Given the description of an element on the screen output the (x, y) to click on. 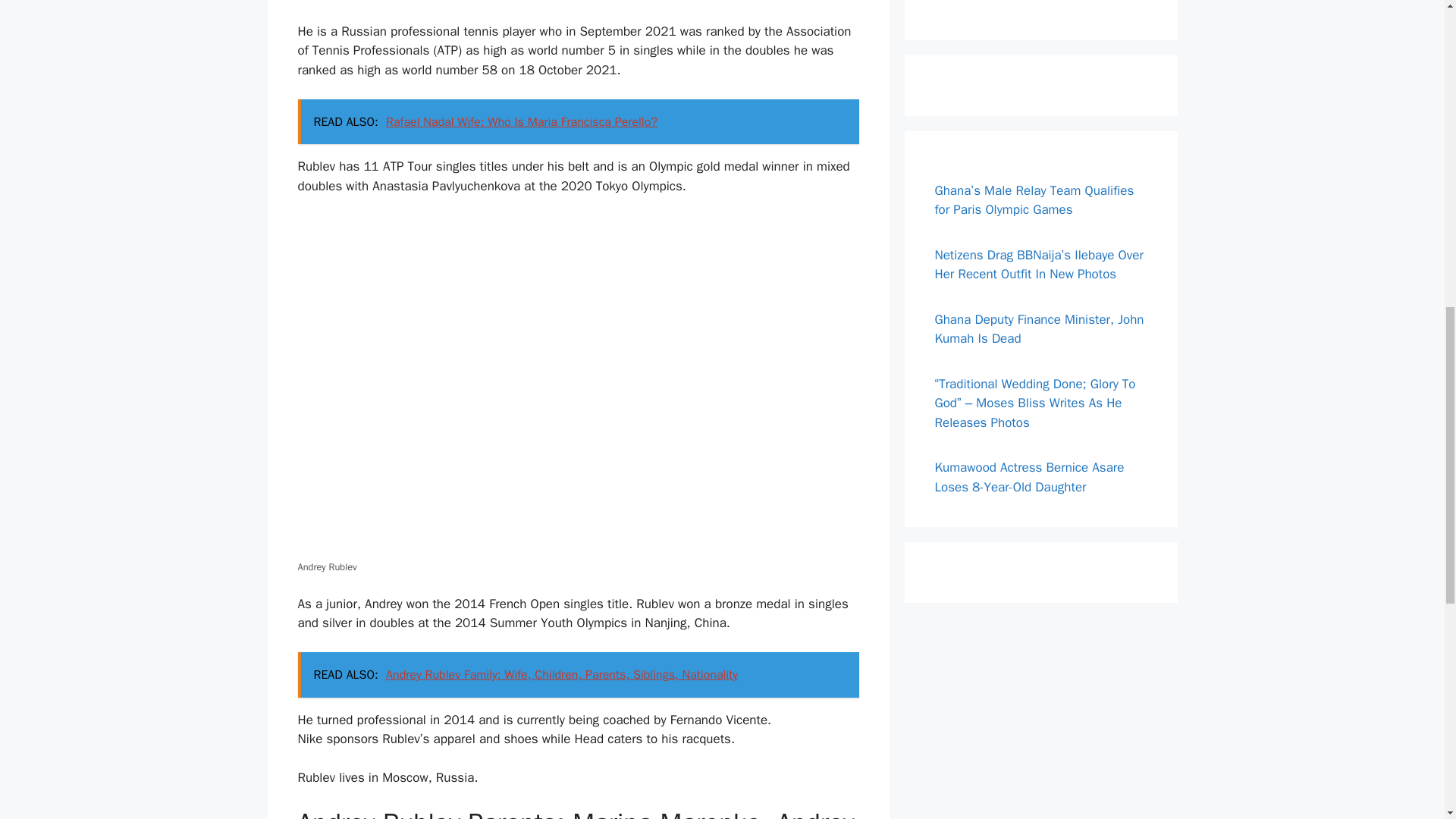
Kumawood Actress Bernice Asare Loses 8-Year-Old Daughter (1029, 477)
Ghana Deputy Finance Minister, John Kumah Is Dead (1038, 328)
